Given the description of an element on the screen output the (x, y) to click on. 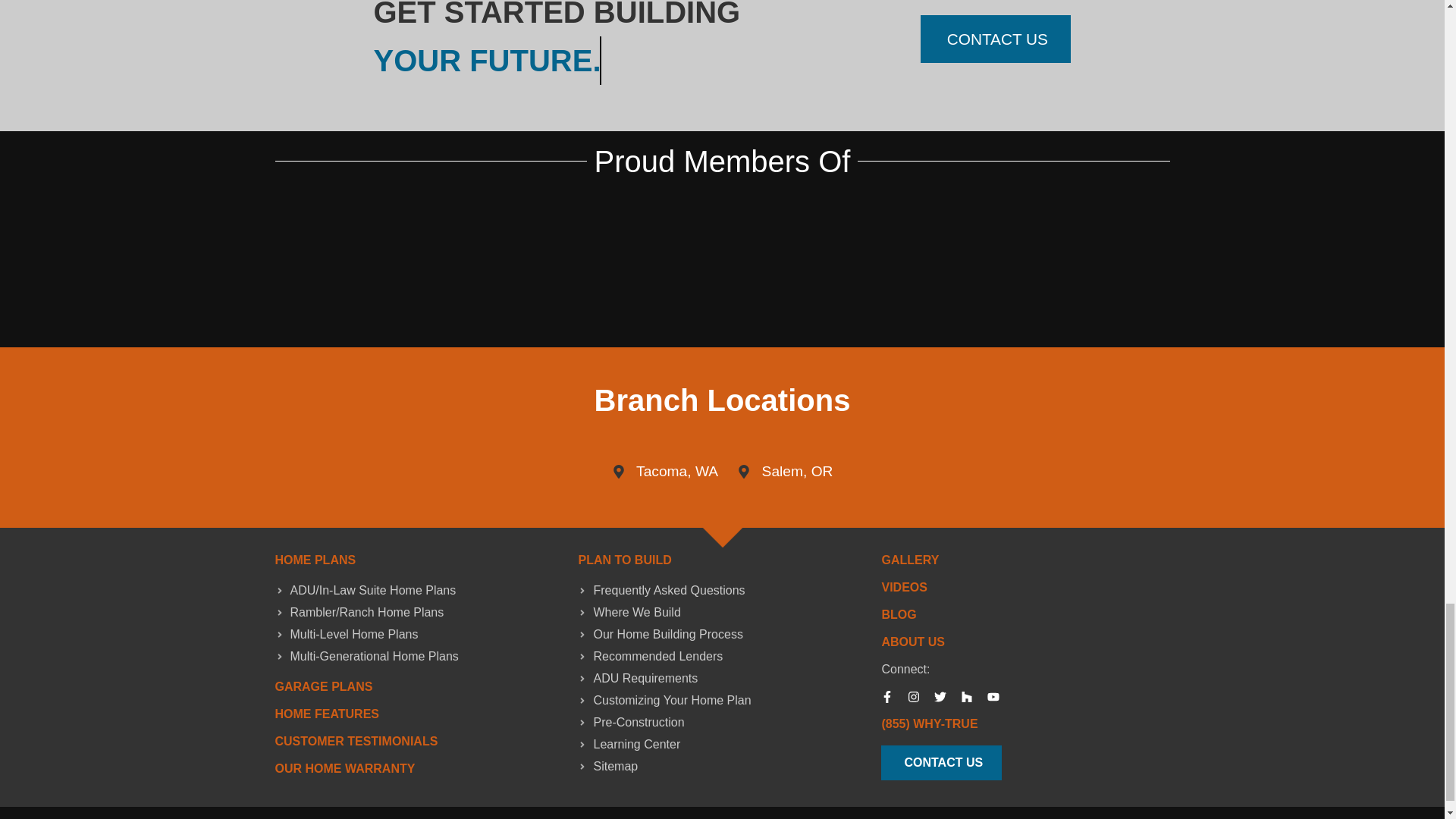
MBAlogo-white.png (493, 299)
KBA-Logo-Wht.png (949, 299)
nahb-logo-white.png (494, 227)
